Given the description of an element on the screen output the (x, y) to click on. 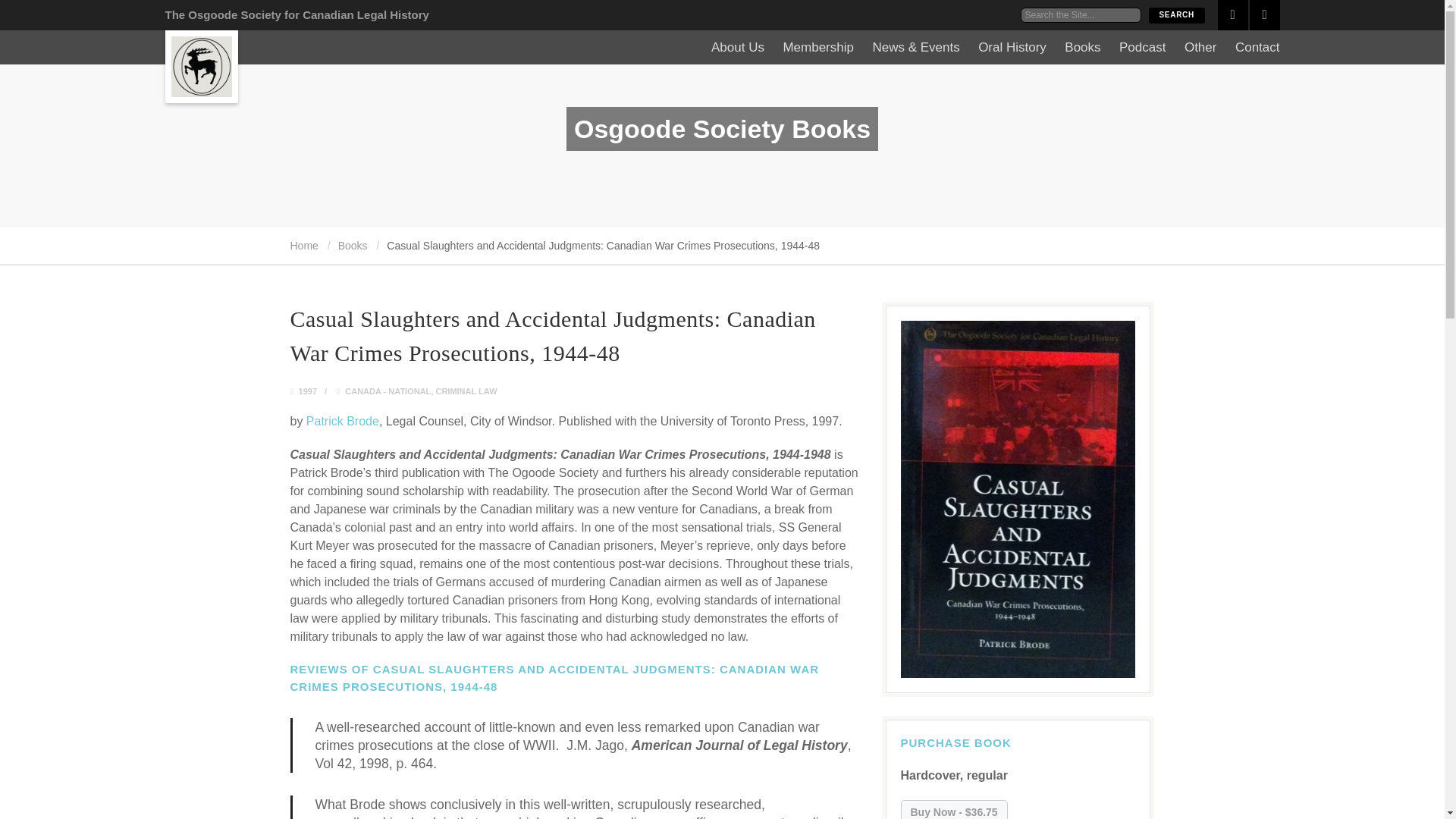
Contact (1256, 47)
Books (352, 245)
Oral History (1012, 47)
Home (303, 245)
Books (1082, 47)
The Osgoode Society for Canadian Legal History (297, 14)
Other (1201, 47)
Podcast (1142, 47)
Membership (818, 47)
Search (1176, 15)
Search (1176, 15)
About Us (737, 47)
